Given the description of an element on the screen output the (x, y) to click on. 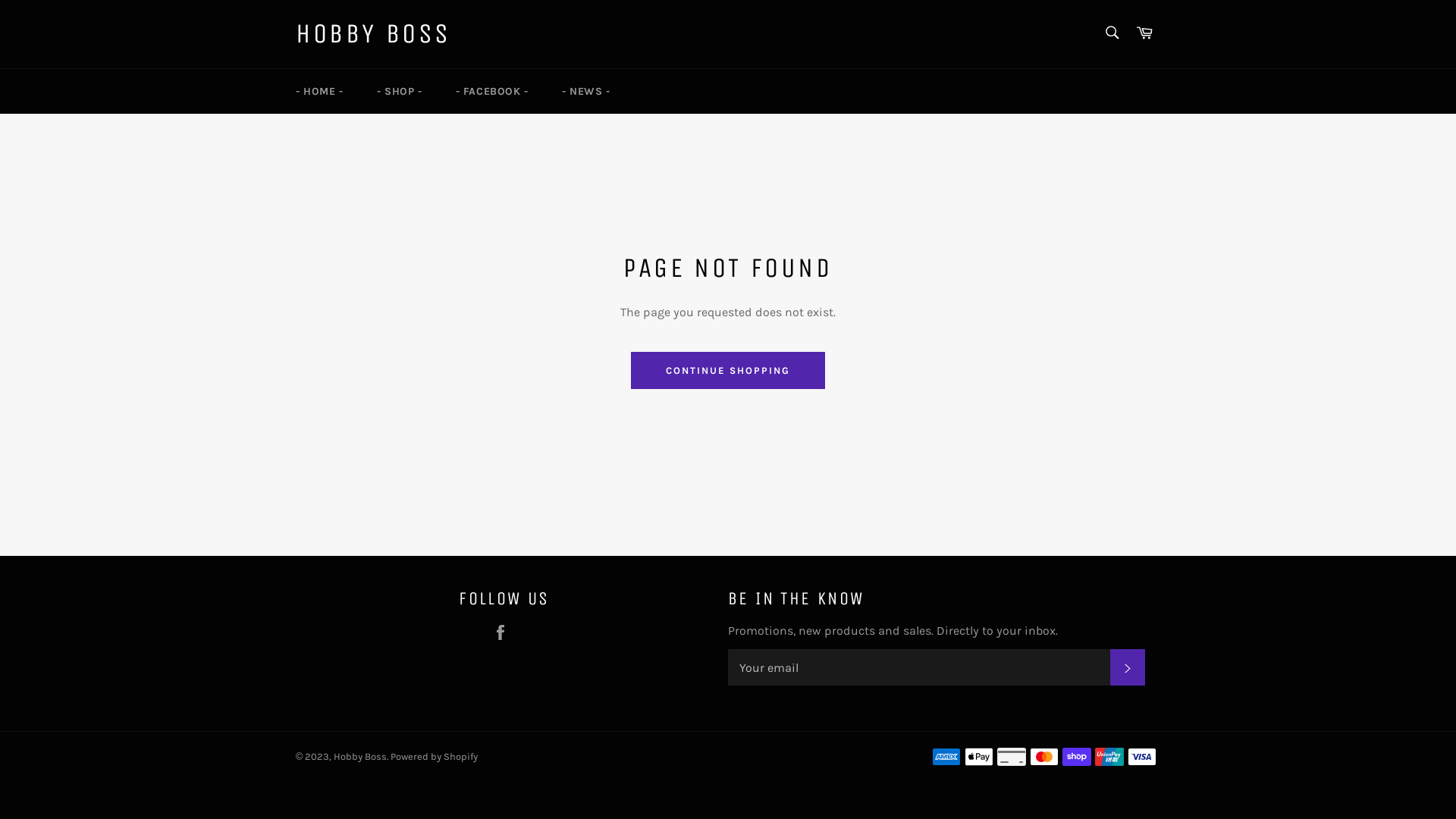
Hobby Boss Element type: text (359, 756)
- SHOP - Element type: text (399, 90)
- HOME - Element type: text (319, 90)
SUBSCRIBE Element type: text (1127, 667)
CONTINUE SHOPPING Element type: text (727, 370)
Search Element type: text (1111, 32)
Powered by Shopify Element type: text (433, 756)
Cart Element type: text (1144, 33)
HOBBY BOSS Element type: text (373, 34)
- NEWS - Element type: text (585, 90)
- FACEBOOK - Element type: text (491, 90)
Facebook Element type: text (504, 631)
